Given the description of an element on the screen output the (x, y) to click on. 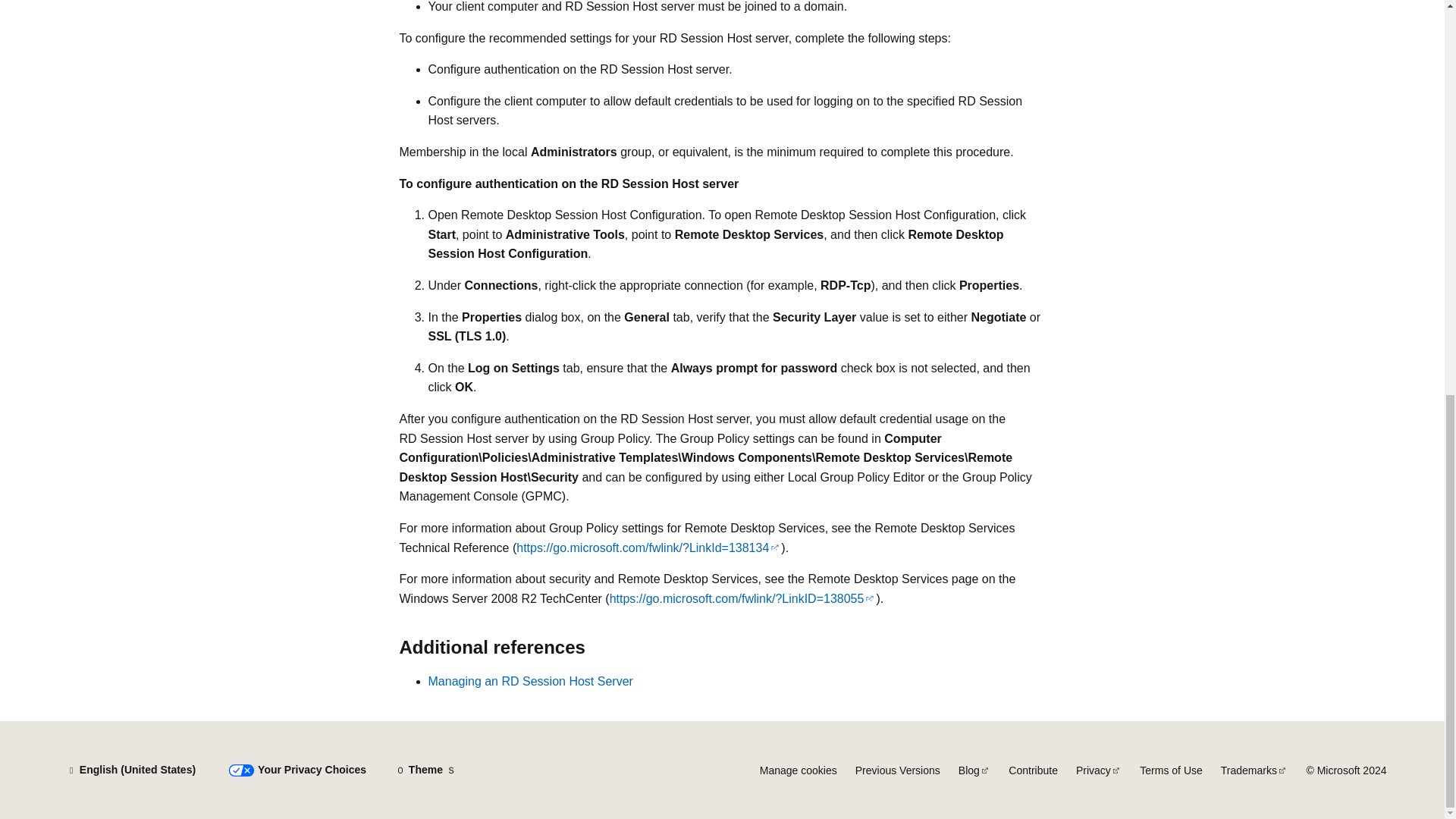
Managing an RD Session Host Server (529, 680)
Theme (425, 770)
